Given the description of an element on the screen output the (x, y) to click on. 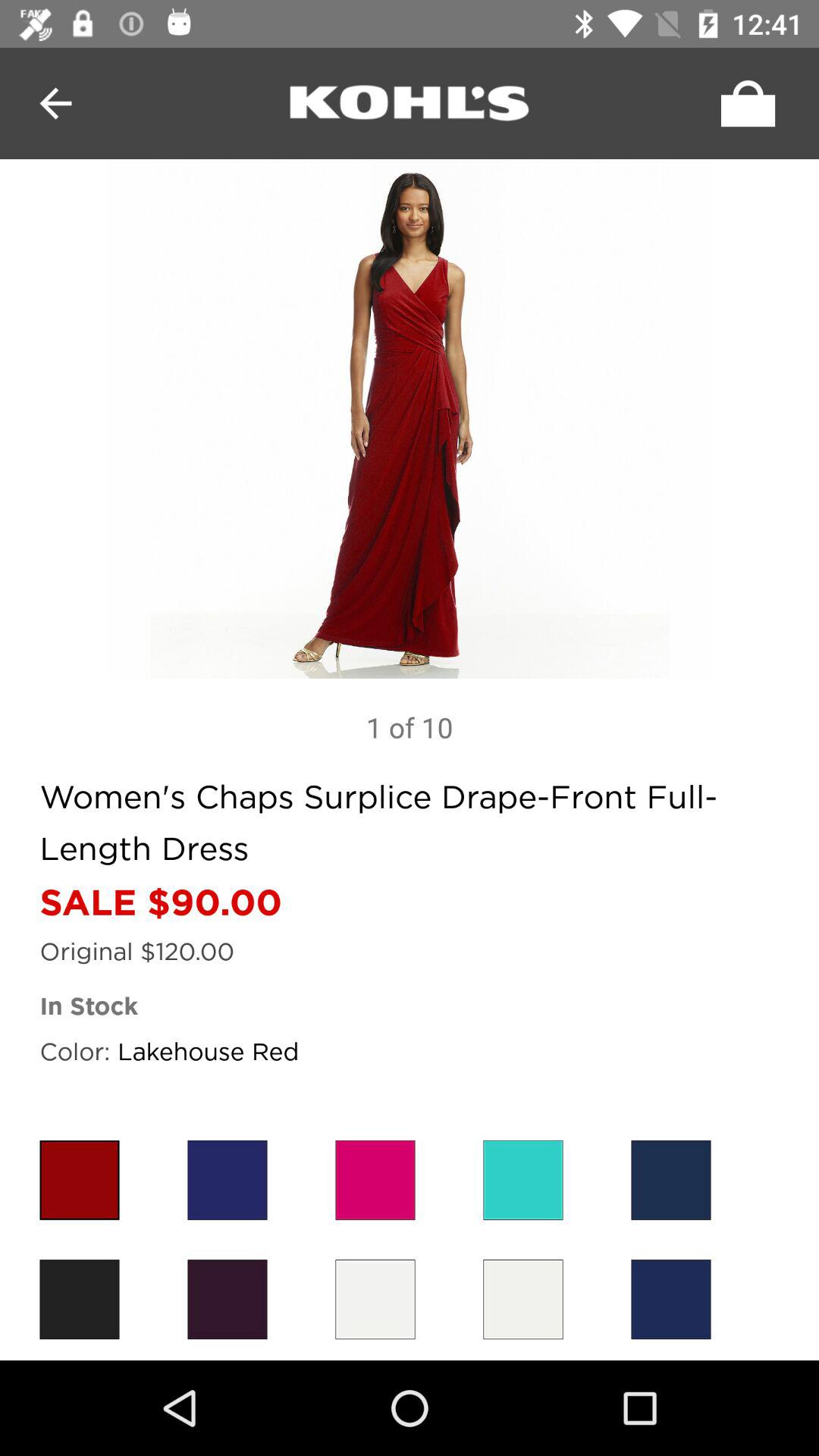
select color navy (670, 1299)
